Given the description of an element on the screen output the (x, y) to click on. 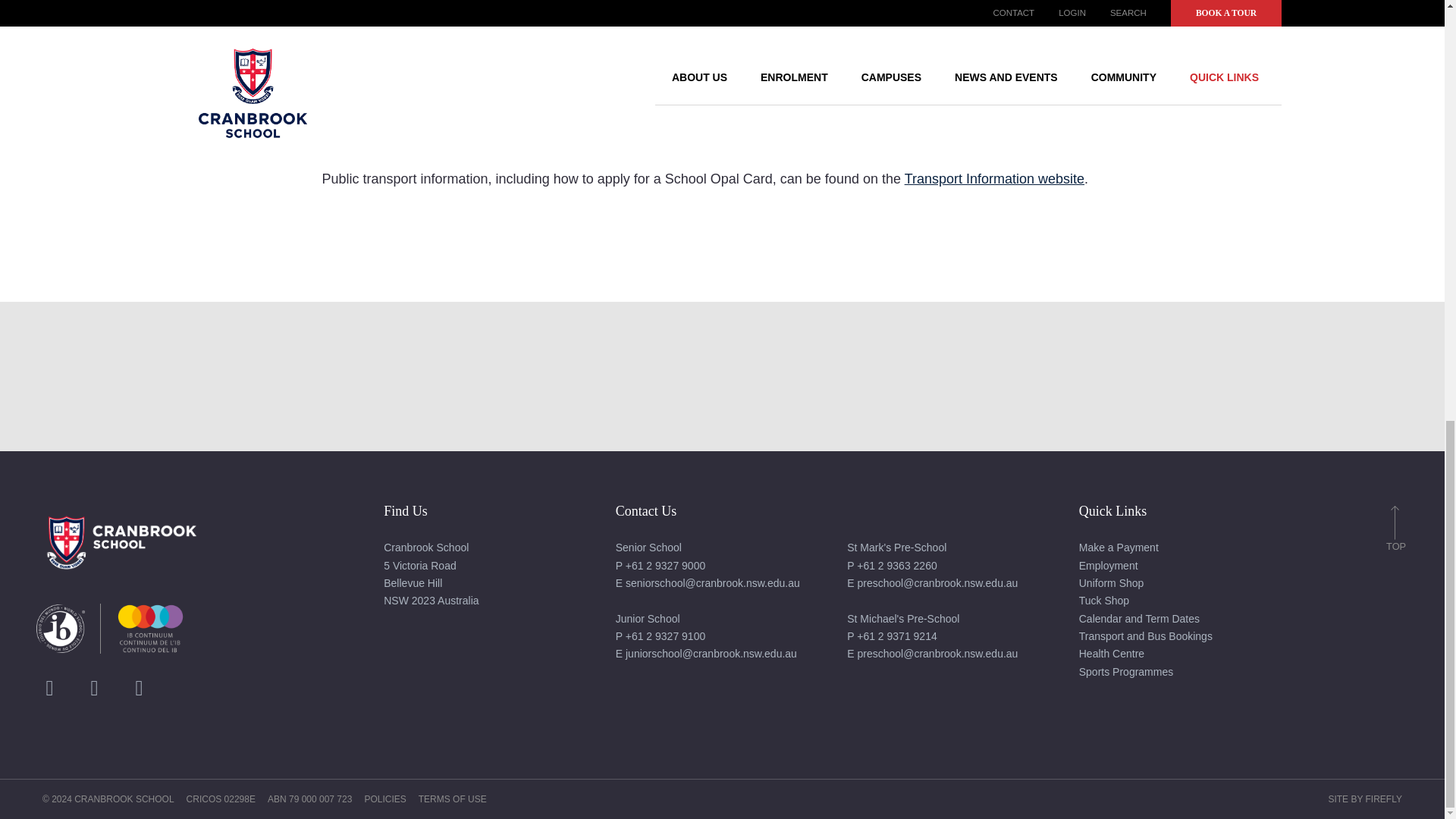
Website design by Firefly Digital (1364, 798)
